Given the description of an element on the screen output the (x, y) to click on. 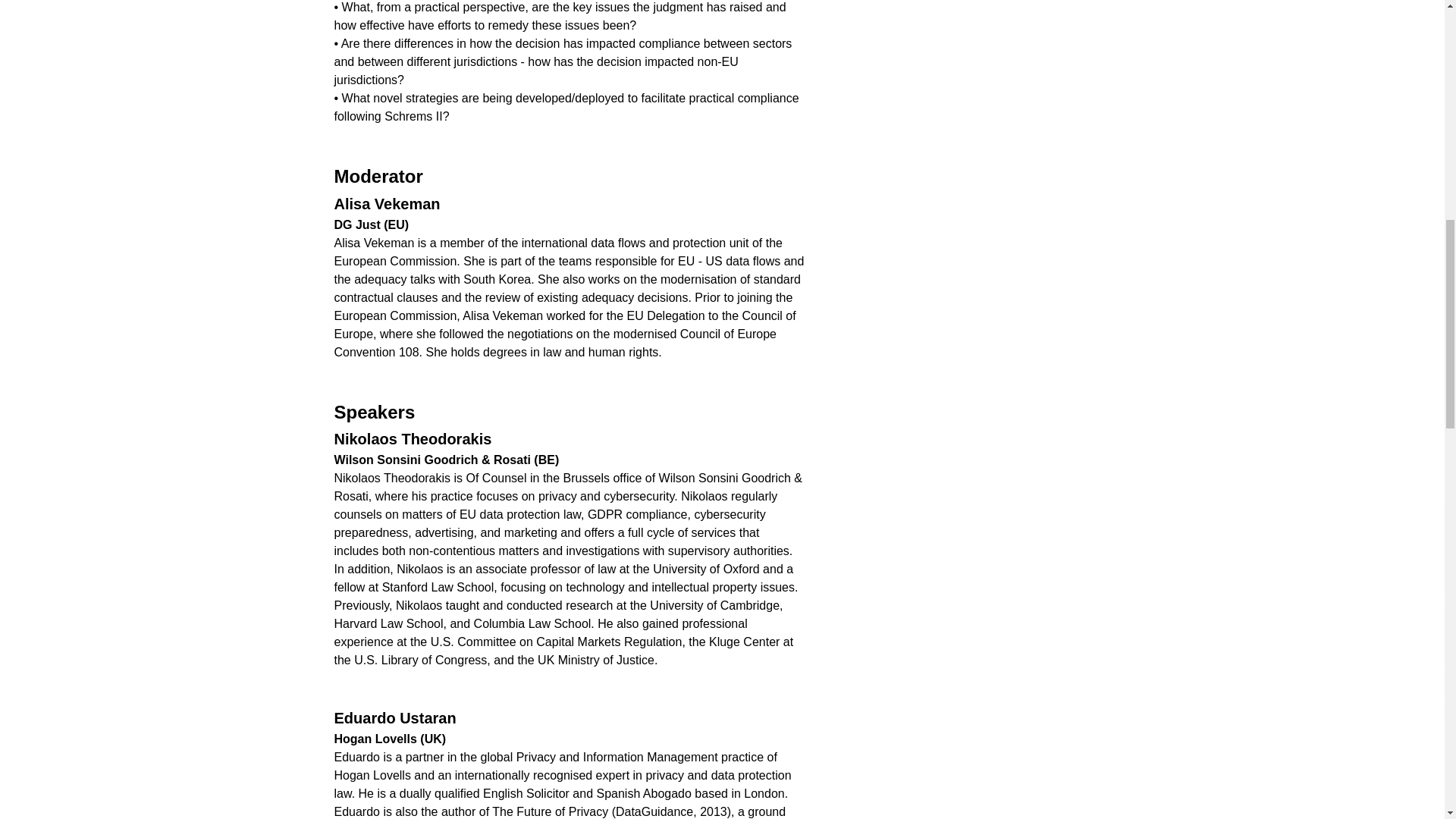
Eduardo Ustaran (394, 718)
Nikolaos Theodorakis (412, 438)
Alisa Vekeman (386, 203)
